Given the description of an element on the screen output the (x, y) to click on. 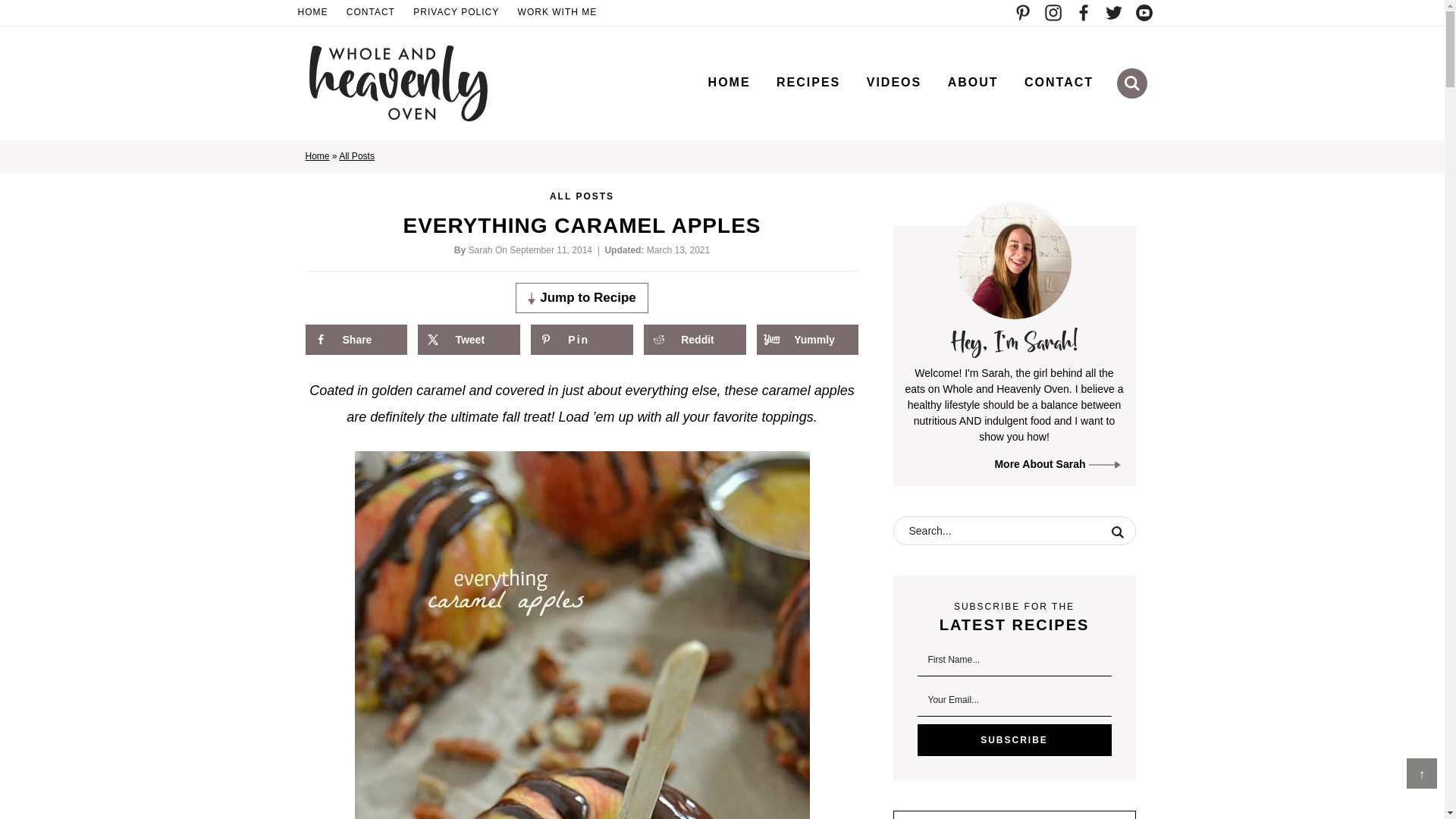
Subscribe (1014, 739)
ABOUT (973, 82)
Share on X (468, 339)
RECIPES (807, 82)
Home (316, 155)
WORK WITH ME (558, 13)
Save to Pinterest (581, 339)
CONTACT (371, 13)
Share on Facebook (355, 339)
Share on Yummly (808, 339)
Jump to Recipe (581, 297)
HOME (729, 82)
